Given the description of an element on the screen output the (x, y) to click on. 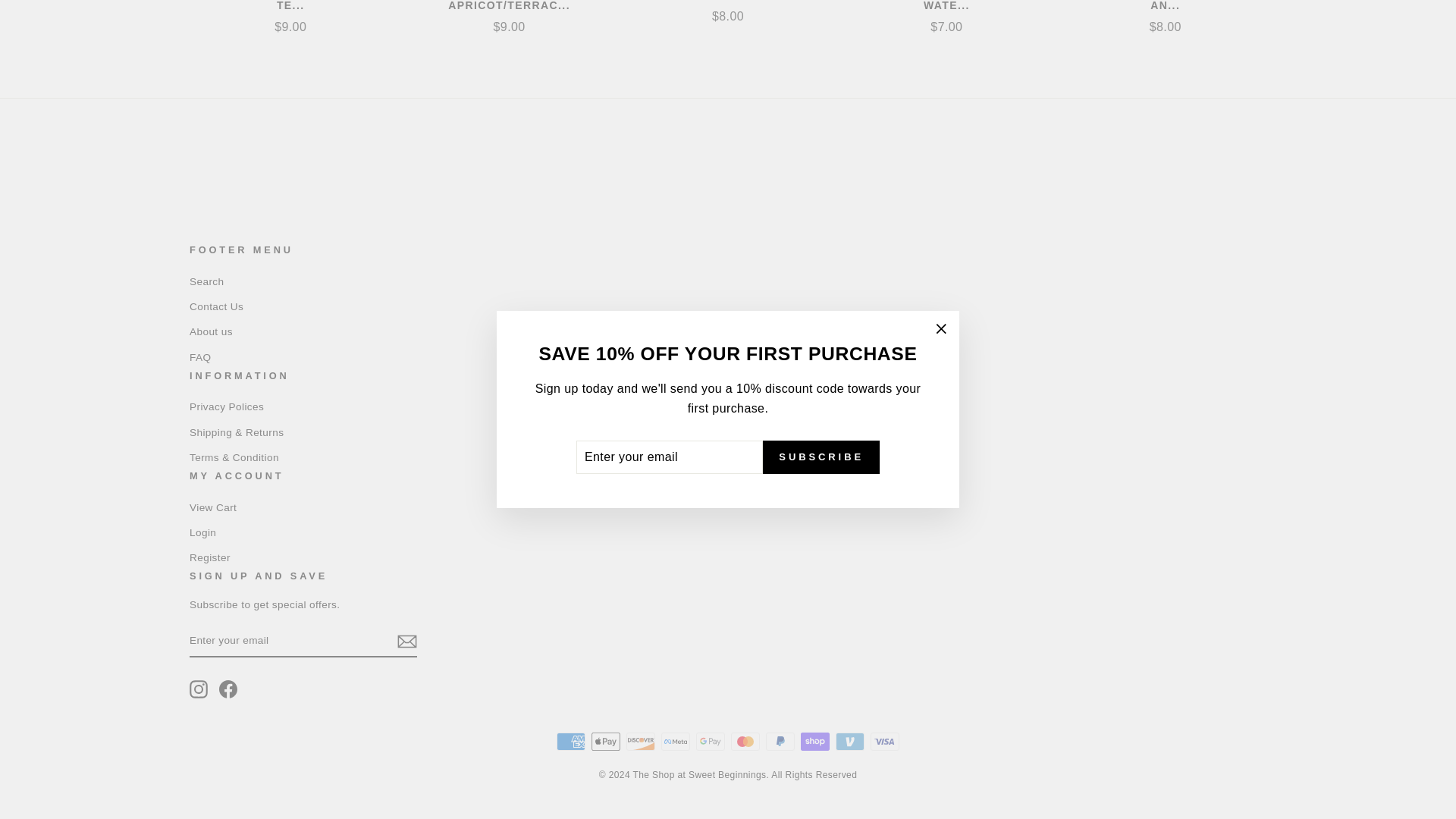
Visa (884, 741)
Meta Pay (675, 741)
Google Pay (710, 741)
Apple Pay (605, 741)
Discover (640, 741)
Mastercard (745, 741)
PayPal (779, 741)
Venmo (849, 741)
Shop Pay (814, 741)
American Express (570, 741)
